Given the description of an element on the screen output the (x, y) to click on. 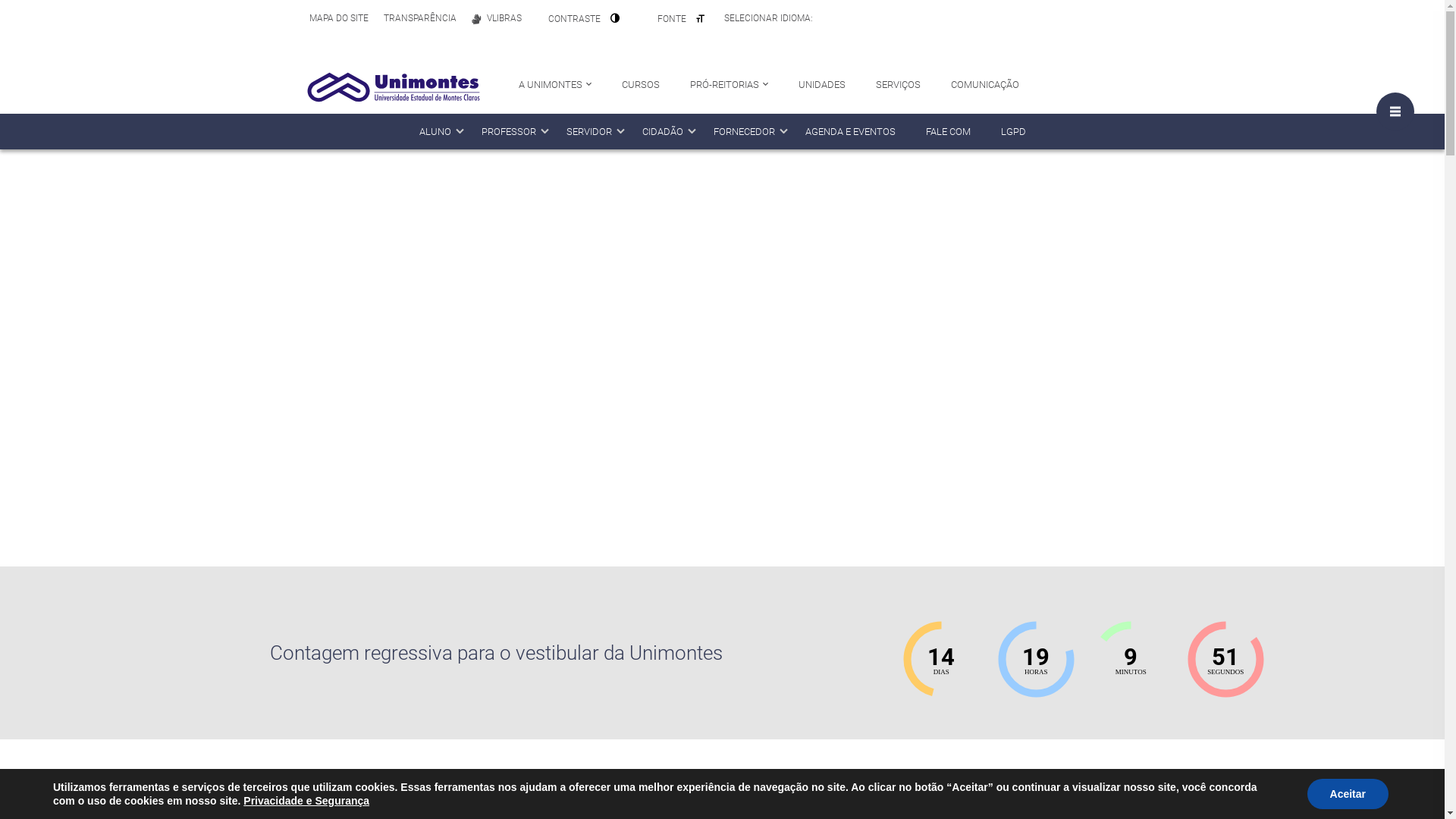
CURSOS Element type: text (640, 85)
Spanish Element type: hover (857, 18)
FONTE Element type: text (681, 18)
SERVIDOR Element type: text (588, 131)
LGPD Element type: text (1013, 131)
UNIDADES Element type: text (821, 85)
VLIBRAS Element type: text (496, 18)
FORNECEDOR Element type: text (743, 131)
A UNIMONTES Element type: text (554, 85)
Chinese (Simplified) Element type: hover (887, 18)
CONTRASTE Element type: text (583, 18)
AGENDA E EVENTOS Element type: text (850, 131)
Portuguese Element type: hover (827, 18)
ALUNO Element type: text (434, 131)
French Element type: hover (872, 18)
PROFESSOR Element type: text (507, 131)
FALE COM Element type: text (947, 131)
MAPA DO SITE Element type: text (338, 18)
English Element type: hover (842, 18)
Aceitar Element type: text (1347, 793)
